Given the description of an element on the screen output the (x, y) to click on. 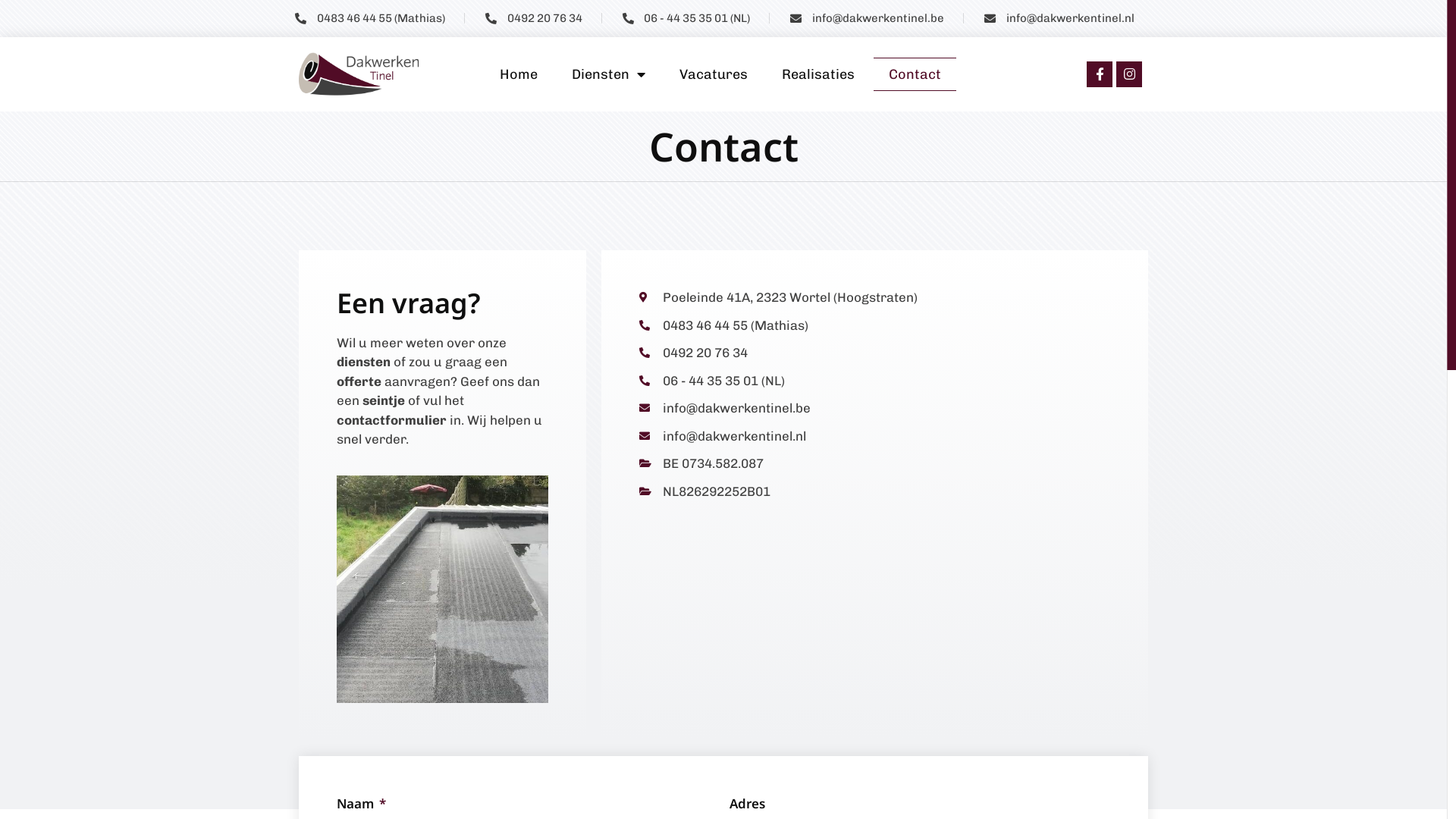
Home Element type: text (518, 74)
info@dakwerkentinel.nl Element type: text (1058, 18)
Realisaties Element type: text (817, 74)
Contact Element type: text (914, 74)
0492 20 76 34 Element type: text (874, 353)
info@dakwerkentinel.be Element type: text (866, 18)
0492 20 76 34 Element type: text (532, 18)
info@dakwerkentinel.be Element type: text (874, 408)
info@dakwerkentinel.nl Element type: text (874, 436)
roofing plat dak Element type: hover (442, 588)
Vacatures Element type: text (713, 74)
0483 46 44 55 (Mathias) Element type: text (369, 18)
06 - 44 35 35 01 (NL) Element type: text (874, 381)
Poeleinde 41A, 2323 Wortel (Hoogstraten) Element type: hover (874, 592)
0483 46 44 55 (Mathias) Element type: text (874, 325)
Poeleinde 41A, 2323 Wortel (Hoogstraten) Element type: text (874, 297)
Diensten Element type: text (608, 74)
06 - 44 35 35 01 (NL) Element type: text (685, 18)
